Given the description of an element on the screen output the (x, y) to click on. 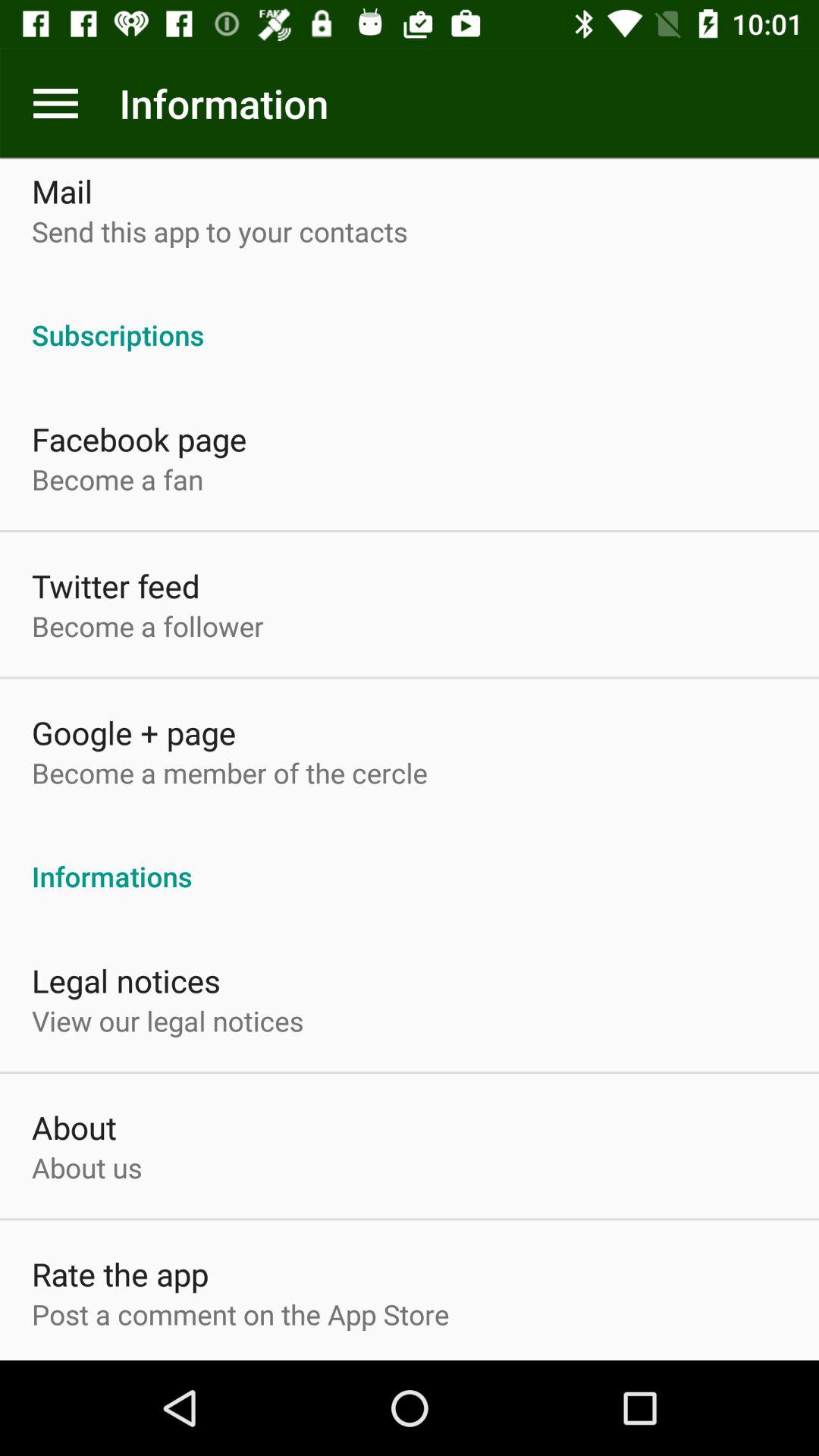
turn on app next to information (55, 103)
